Given the description of an element on the screen output the (x, y) to click on. 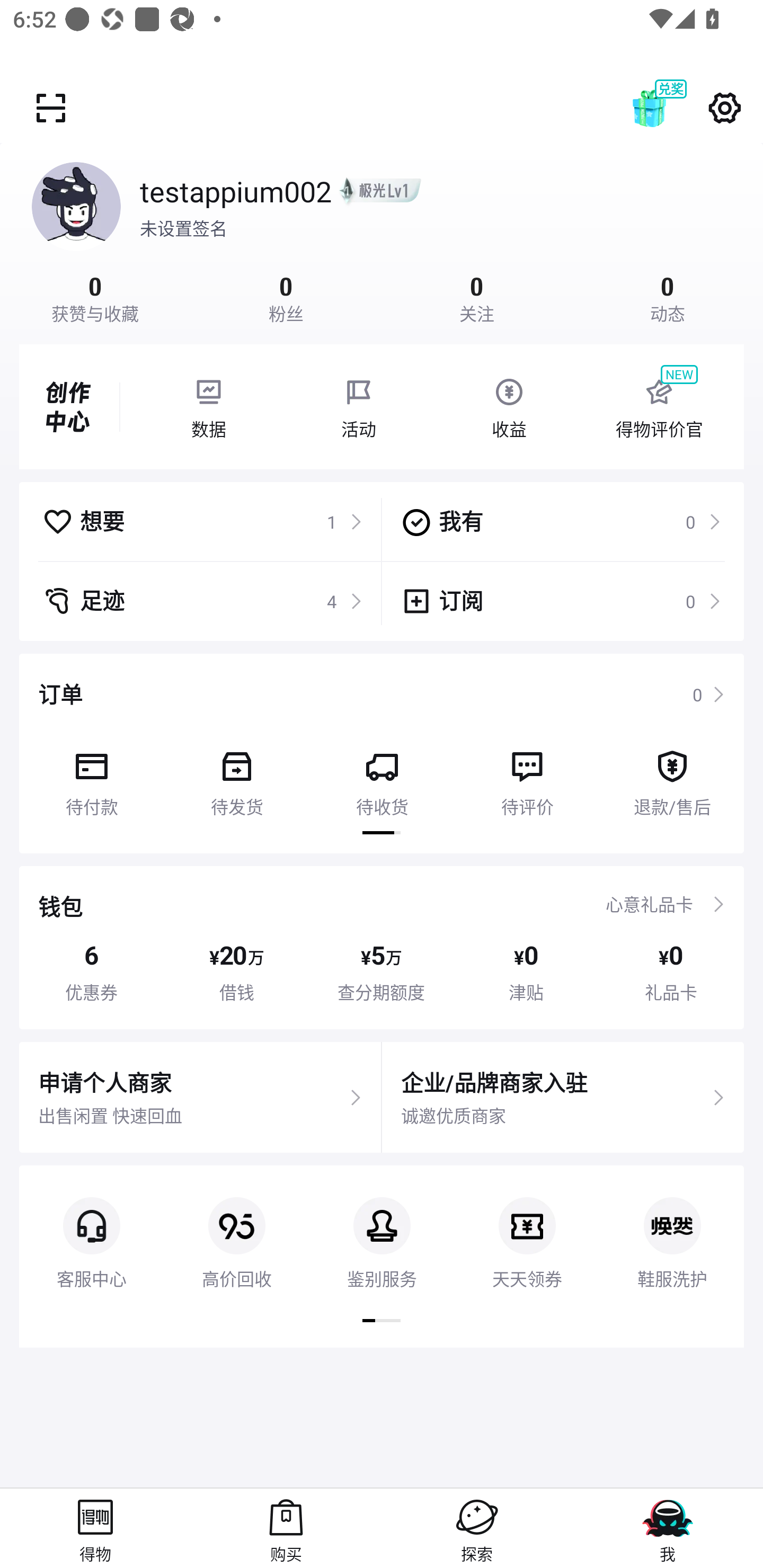
兑奖 (667, 107)
testappium002 未设置签名 0 获赞与收藏 0 粉丝 0 关注 0 动态 (381, 233)
0 获赞与收藏 (95, 296)
0 粉丝 (285, 296)
0 关注 (476, 296)
0 动态 (667, 296)
数据 (208, 406)
活动 (358, 406)
收益 (508, 406)
NEW 得物评价官 (658, 406)
想要 1 (201, 521)
我有 0 (560, 521)
足迹 4 (201, 601)
订阅 0 (560, 601)
订单 0 待付款 待发货 待收货 待评价 退款/售后 (381, 752)
待付款 (91, 776)
待发货 (236, 776)
待收货 (381, 776)
待评价 (526, 776)
退款/售后 (671, 776)
心意礼品卡 (648, 903)
6 优惠券 (91, 971)
¥ 20 万 借钱 (236, 971)
¥ 5 万 查分期额度 (381, 971)
¥ 0 津贴 (525, 971)
¥ 0 礼品卡 (670, 971)
申请个人商家 出售闲置 快速回血 (199, 1097)
企业/品牌商家入驻 诚邀优质商家 (562, 1097)
客服中心 (91, 1227)
高价回收 (236, 1227)
鉴别服务 (381, 1227)
天天领券 (526, 1227)
鞋服洗护 (671, 1227)
得物 (95, 1528)
购买 (285, 1528)
探索 (476, 1528)
我 (667, 1528)
